Given the description of an element on the screen output the (x, y) to click on. 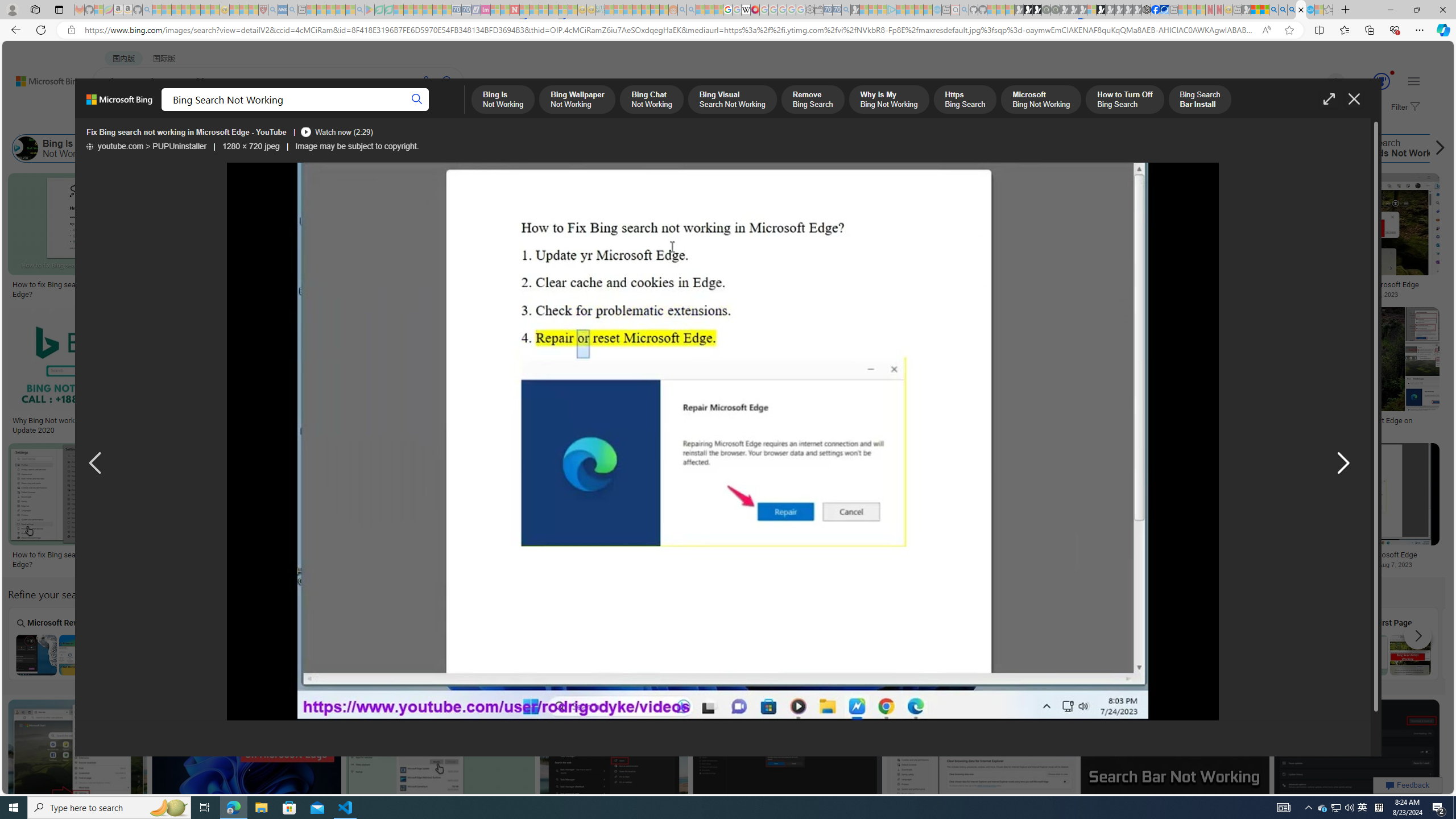
Bing AI - Search (1272, 9)
DICT (407, 111)
Tablet (364, 643)
Visual (774, 643)
